Given the description of an element on the screen output the (x, y) to click on. 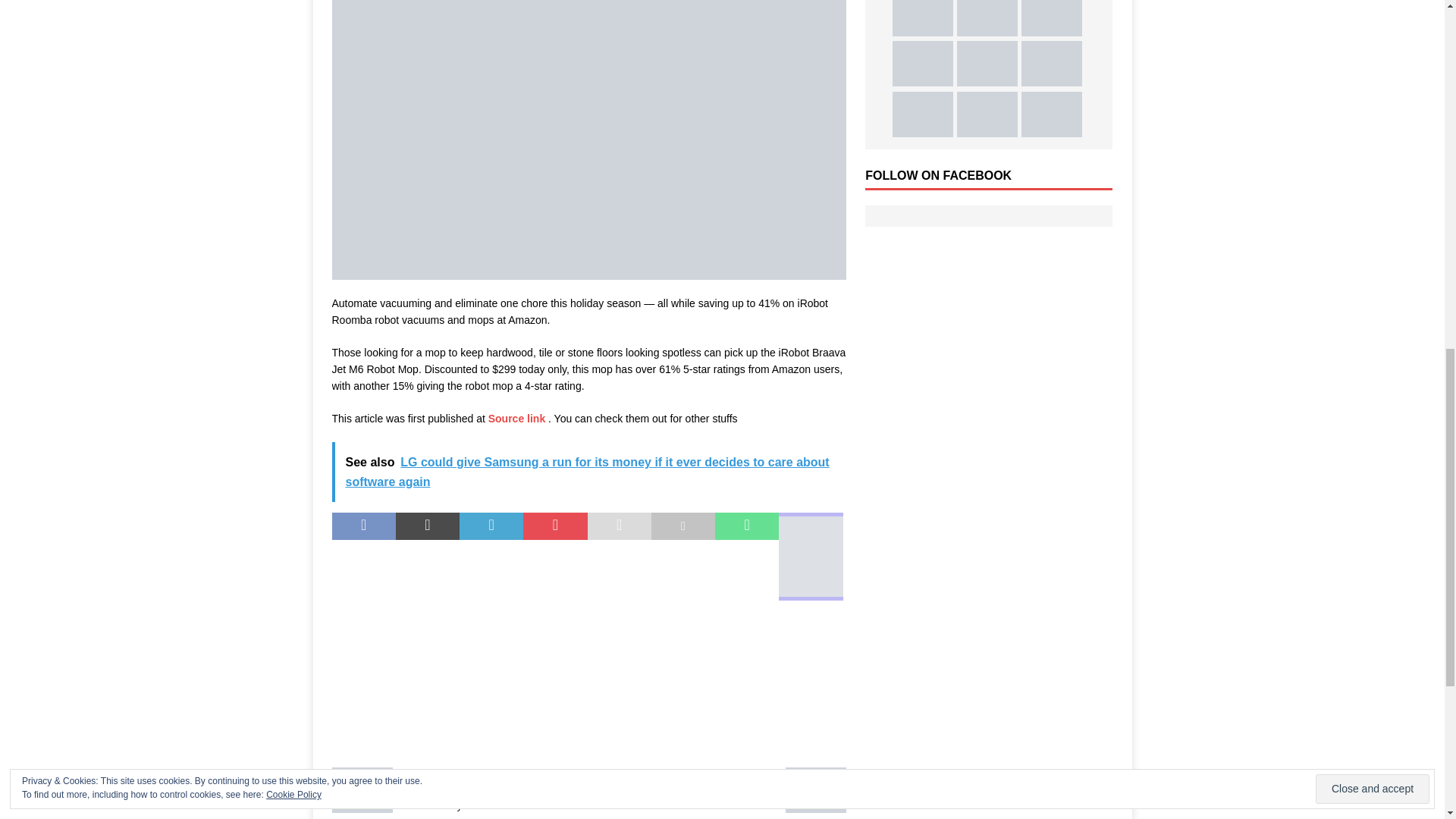
Source link (517, 418)
